Given the description of an element on the screen output the (x, y) to click on. 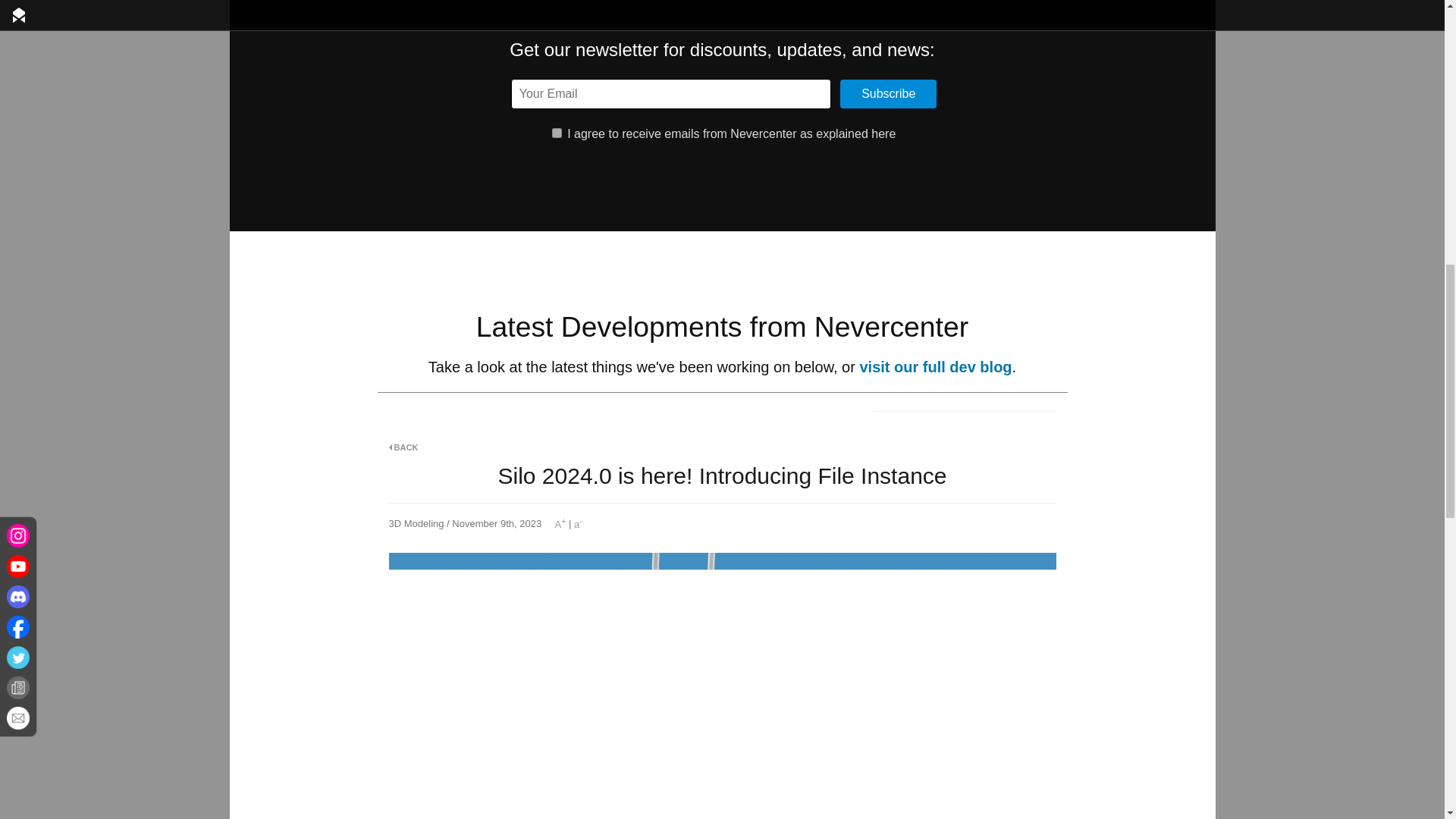
Subscribe (888, 93)
Milo (963, 400)
on (556, 132)
Subscribe (888, 93)
visit our full dev blog (935, 366)
as explained here (847, 133)
CATEGORY (414, 397)
Milo (963, 400)
